Given the description of an element on the screen output the (x, y) to click on. 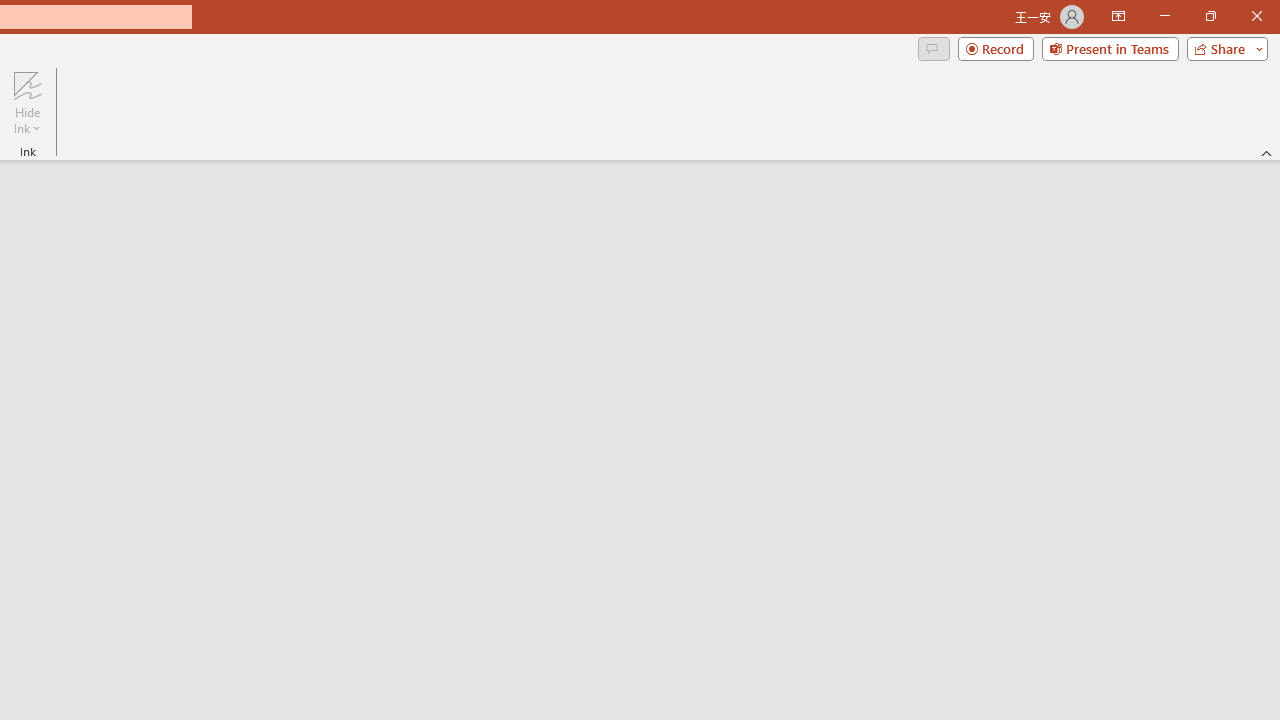
Hide Ink (27, 102)
Hide Ink (27, 84)
